Given the description of an element on the screen output the (x, y) to click on. 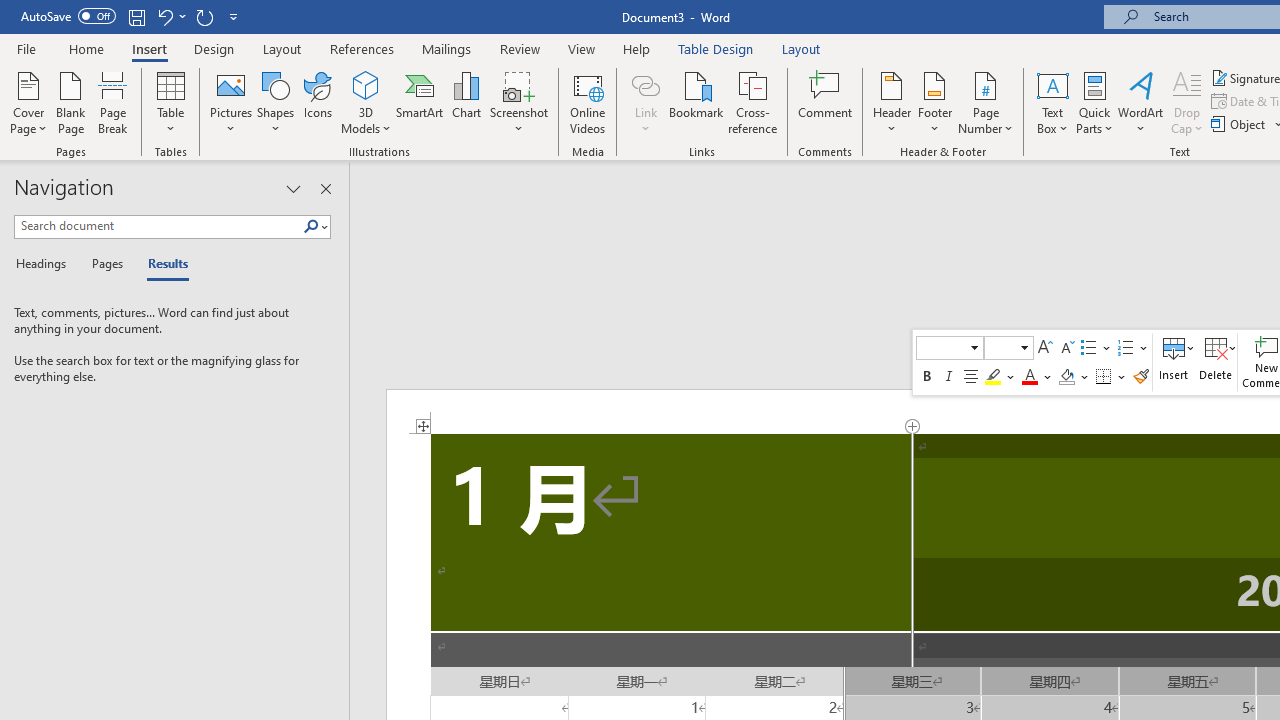
Blank Page (70, 102)
Shrink Font (1066, 348)
Link (645, 102)
Table (170, 102)
Text Highlight Color Yellow (992, 376)
